Given the description of an element on the screen output the (x, y) to click on. 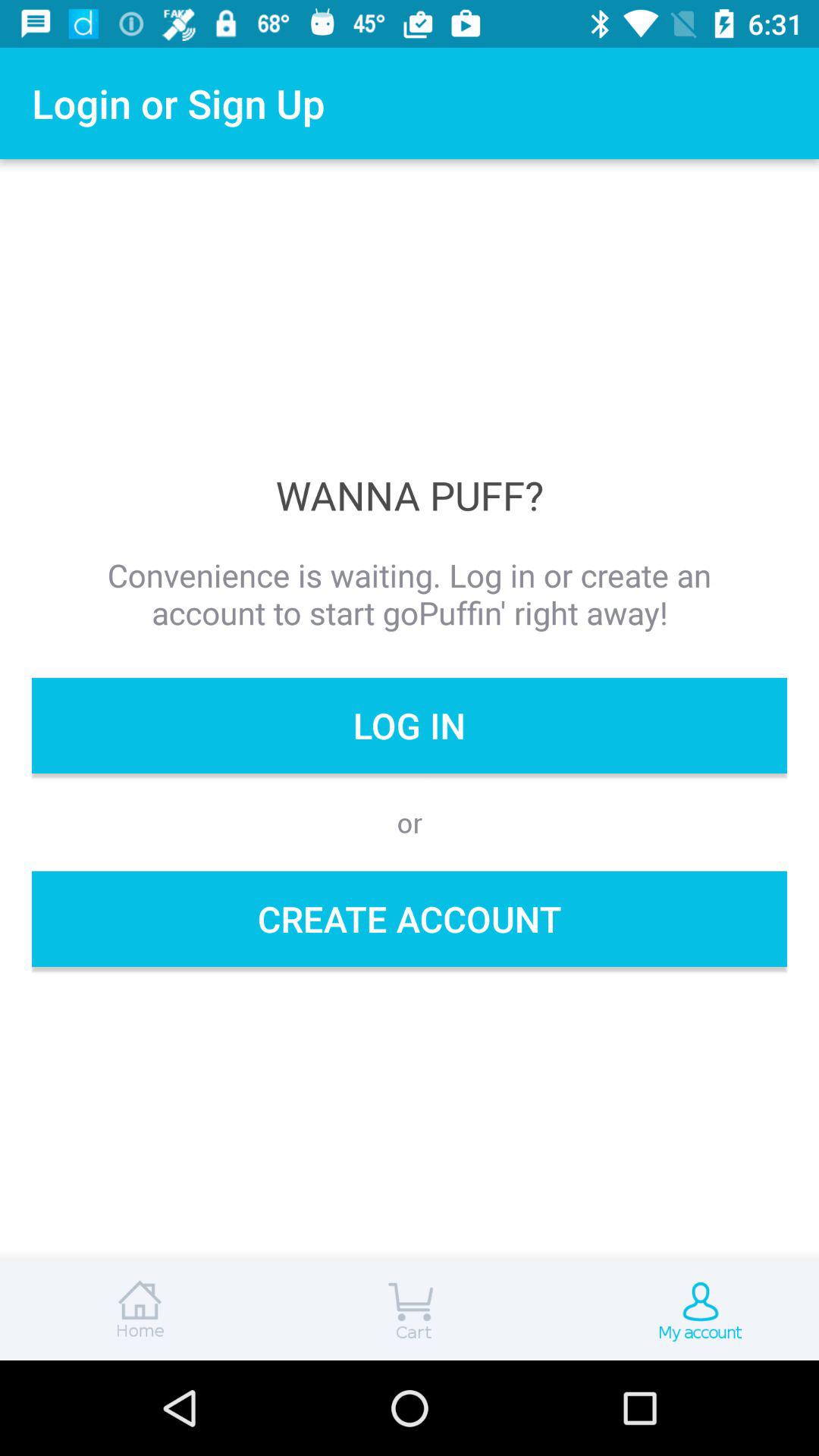
view your account (682, 1310)
